Given the description of an element on the screen output the (x, y) to click on. 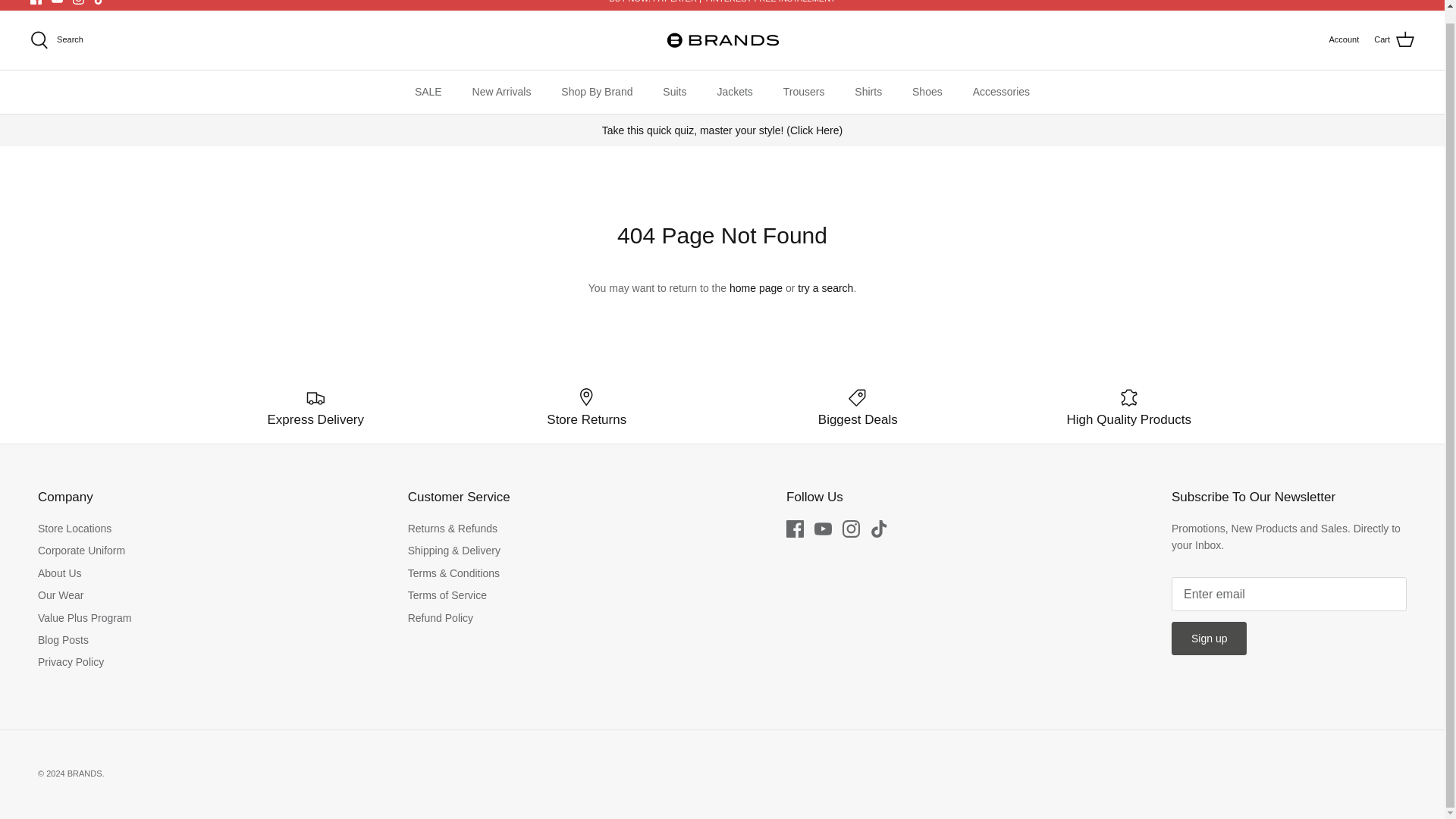
Youtube (822, 528)
New Arrivals (501, 91)
Instagram (851, 528)
Facebook (36, 2)
Instagram (78, 2)
Instagram (78, 2)
Search (56, 40)
Youtube (56, 2)
SALE (428, 91)
Cart (1393, 39)
Account (1342, 39)
Youtube (56, 2)
Facebook (36, 2)
Facebook (794, 528)
BRANDS (721, 39)
